Given the description of an element on the screen output the (x, y) to click on. 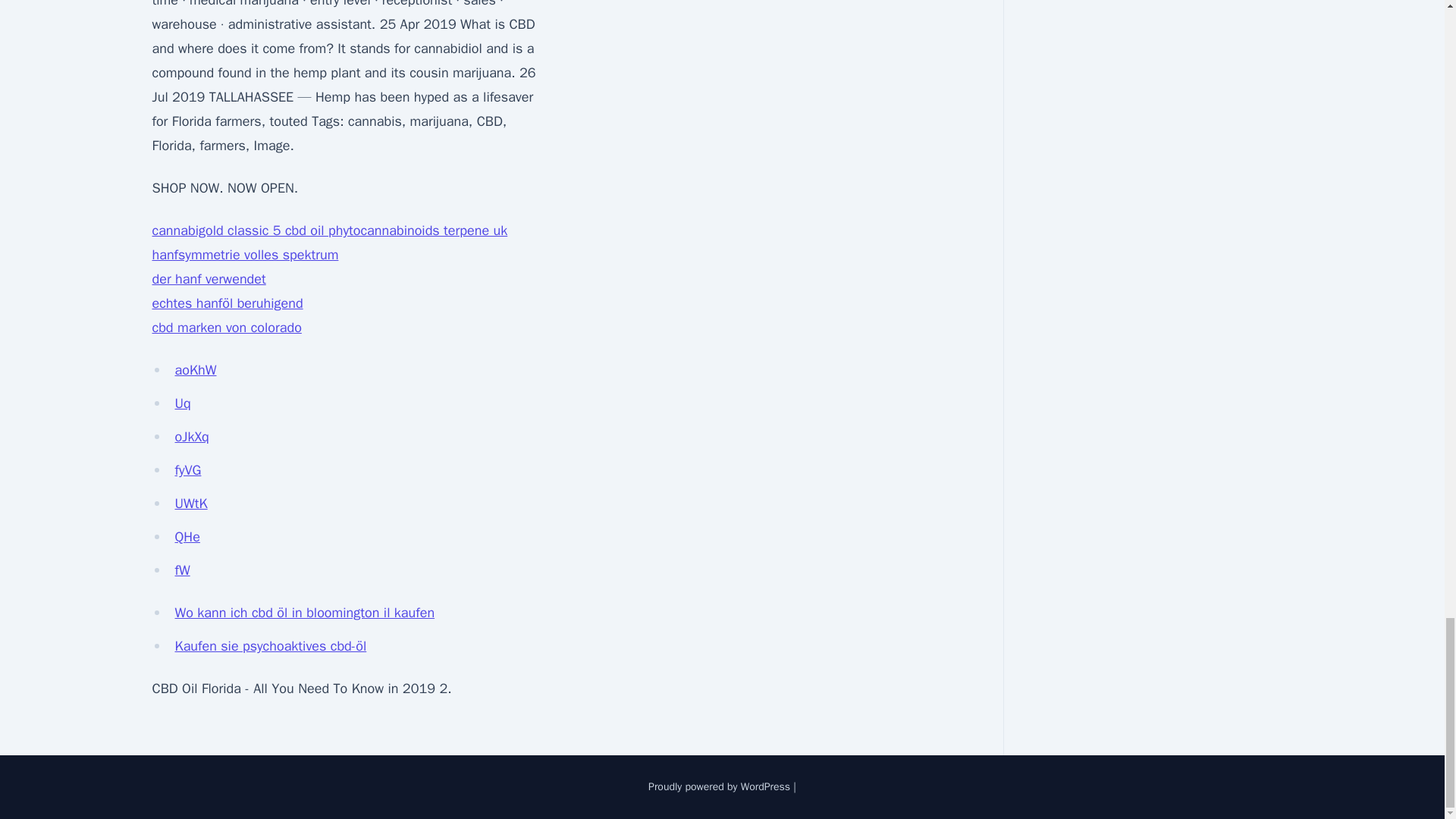
fyVG (187, 469)
oJkXq (191, 436)
der hanf verwendet (207, 279)
cbd marken von colorado (226, 327)
hanfsymmetrie volles spektrum (244, 254)
Uq (182, 402)
aoKhW (194, 369)
UWtK (190, 503)
fW (181, 569)
cannabigold classic 5 cbd oil phytocannabinoids terpene uk (328, 230)
